Given the description of an element on the screen output the (x, y) to click on. 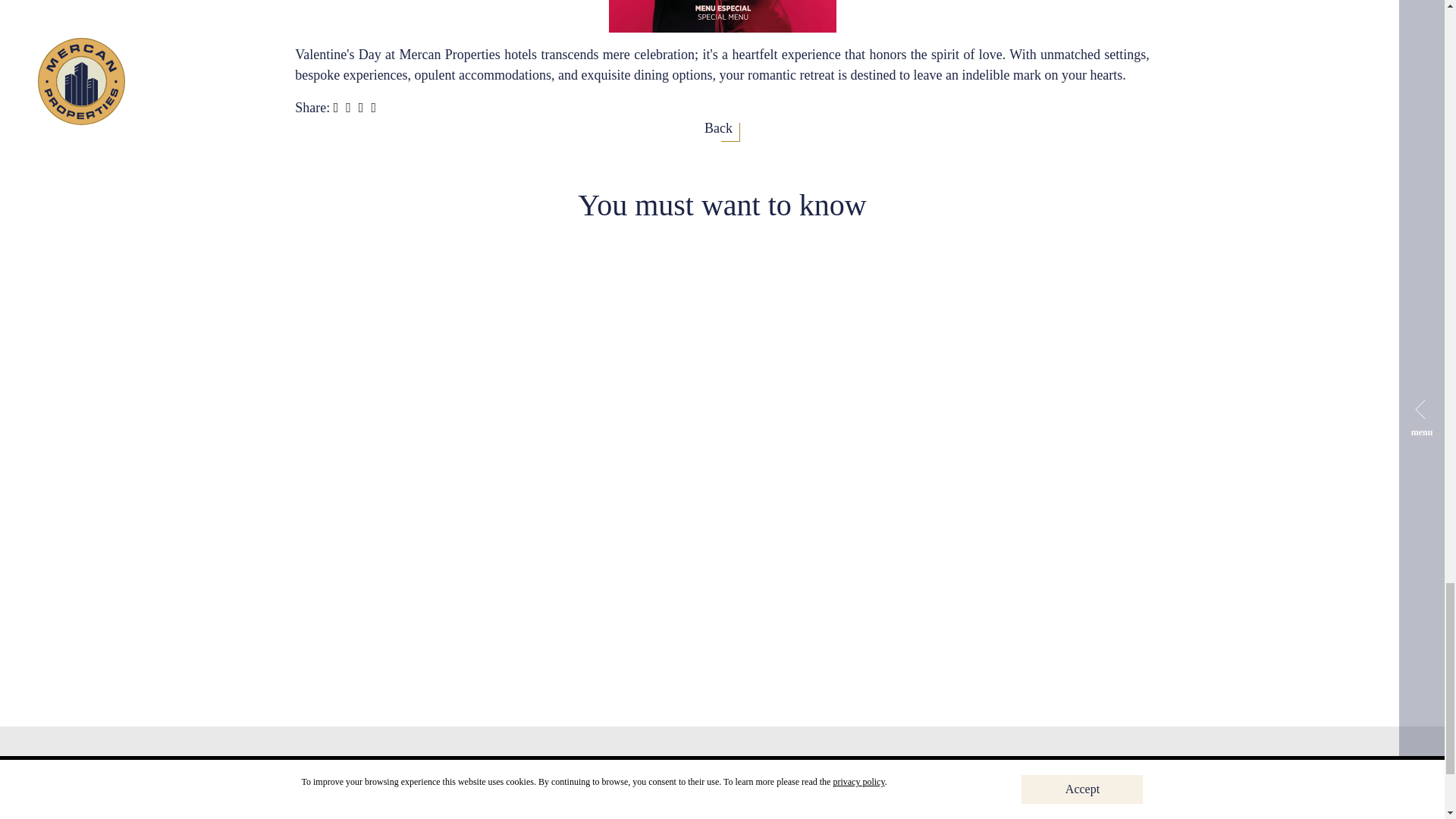
Back (721, 129)
